Given the description of an element on the screen output the (x, y) to click on. 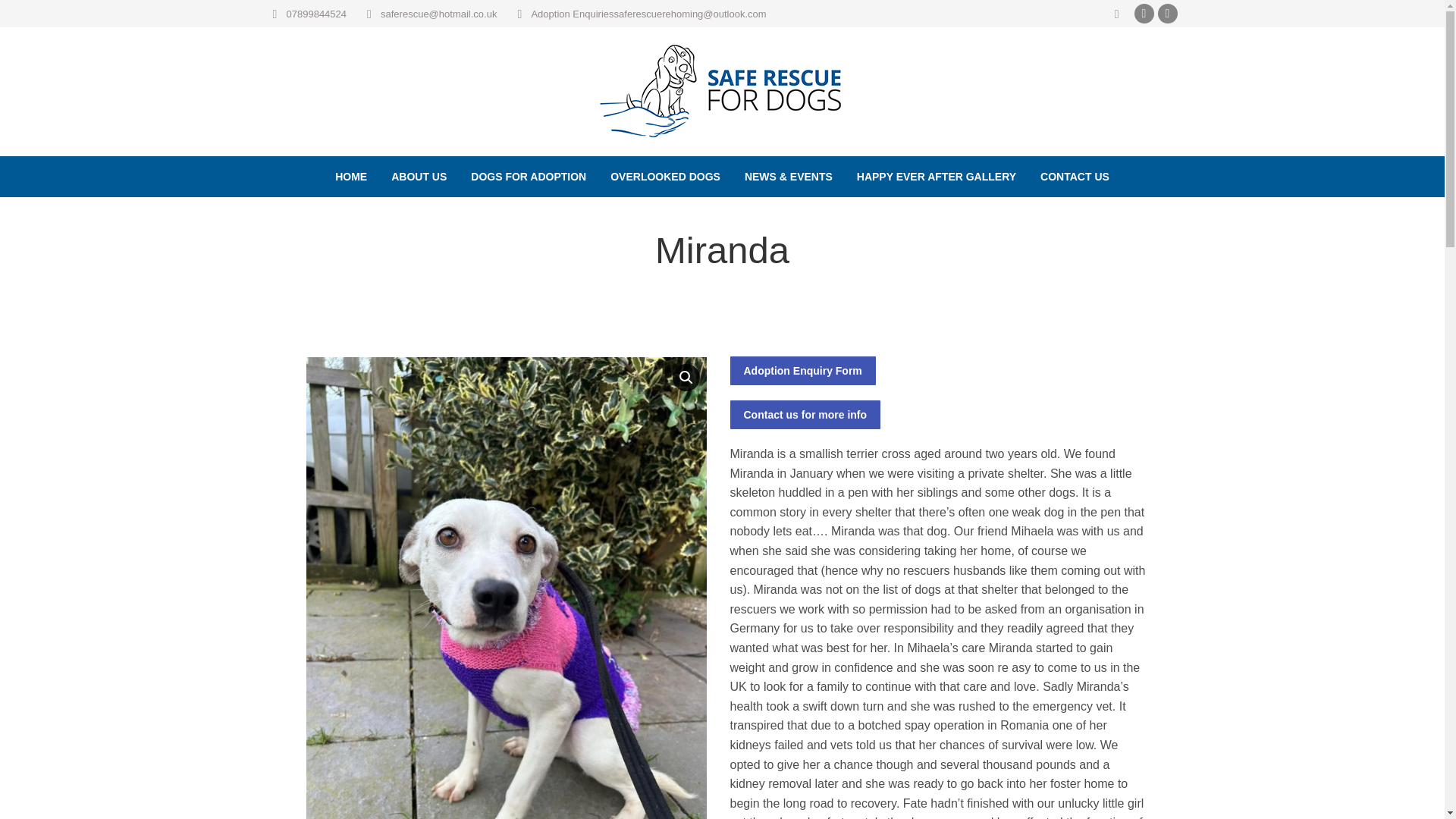
ABOUT US (418, 176)
Facebook page opens in new window (1144, 13)
CONTACT US (1074, 176)
OVERLOOKED DOGS (665, 176)
HOME (350, 176)
HAPPY EVER AFTER GALLERY (935, 176)
Go! (24, 15)
Instagram page opens in new window (1167, 13)
DOGS FOR ADOPTION (528, 176)
